Given the description of an element on the screen output the (x, y) to click on. 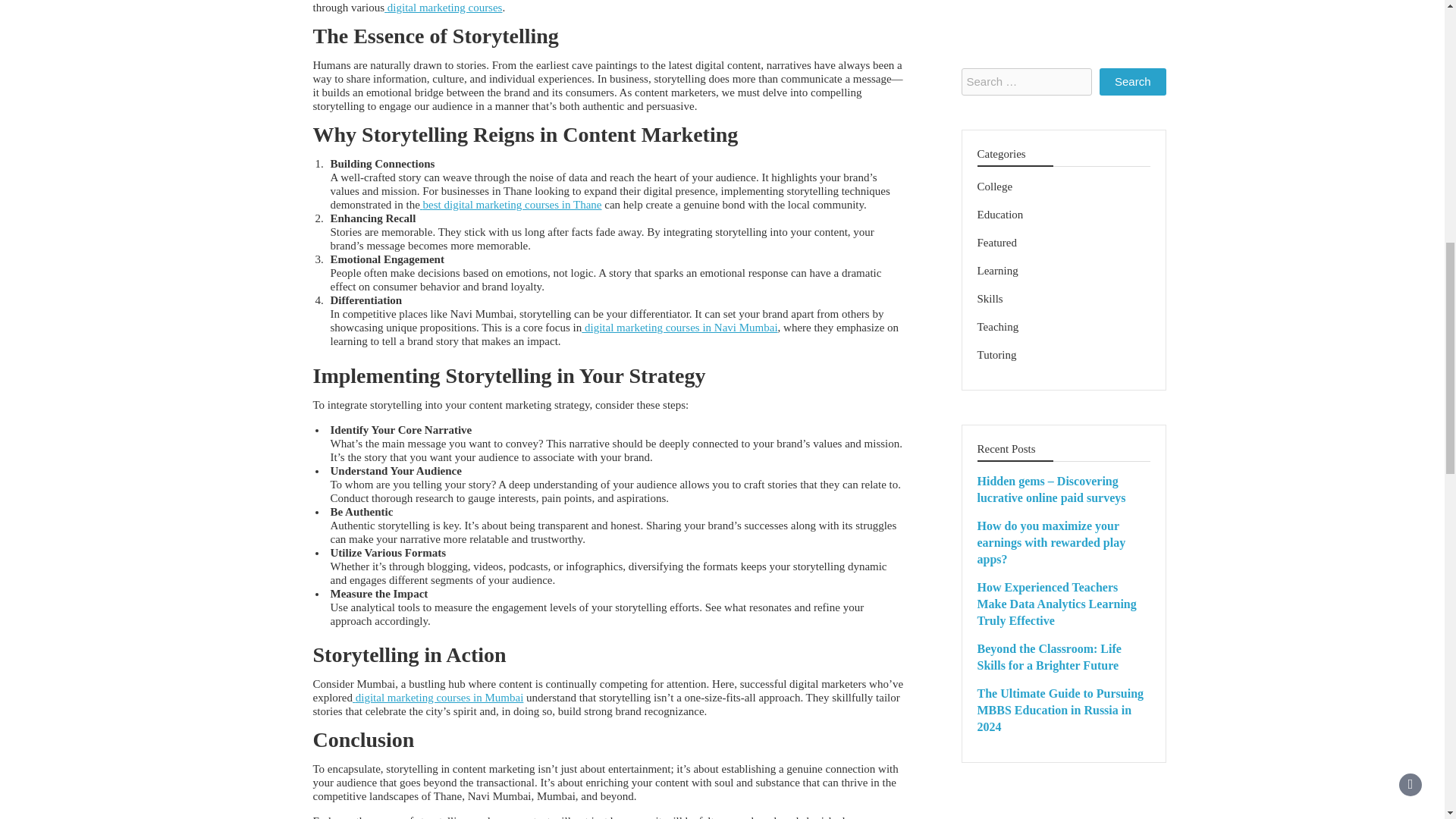
digital marketing courses in Navi Mumbai (678, 327)
digital marketing courses (443, 7)
digital marketing courses in Mumbai (437, 697)
best digital marketing courses in Thane (511, 204)
